Given the description of an element on the screen output the (x, y) to click on. 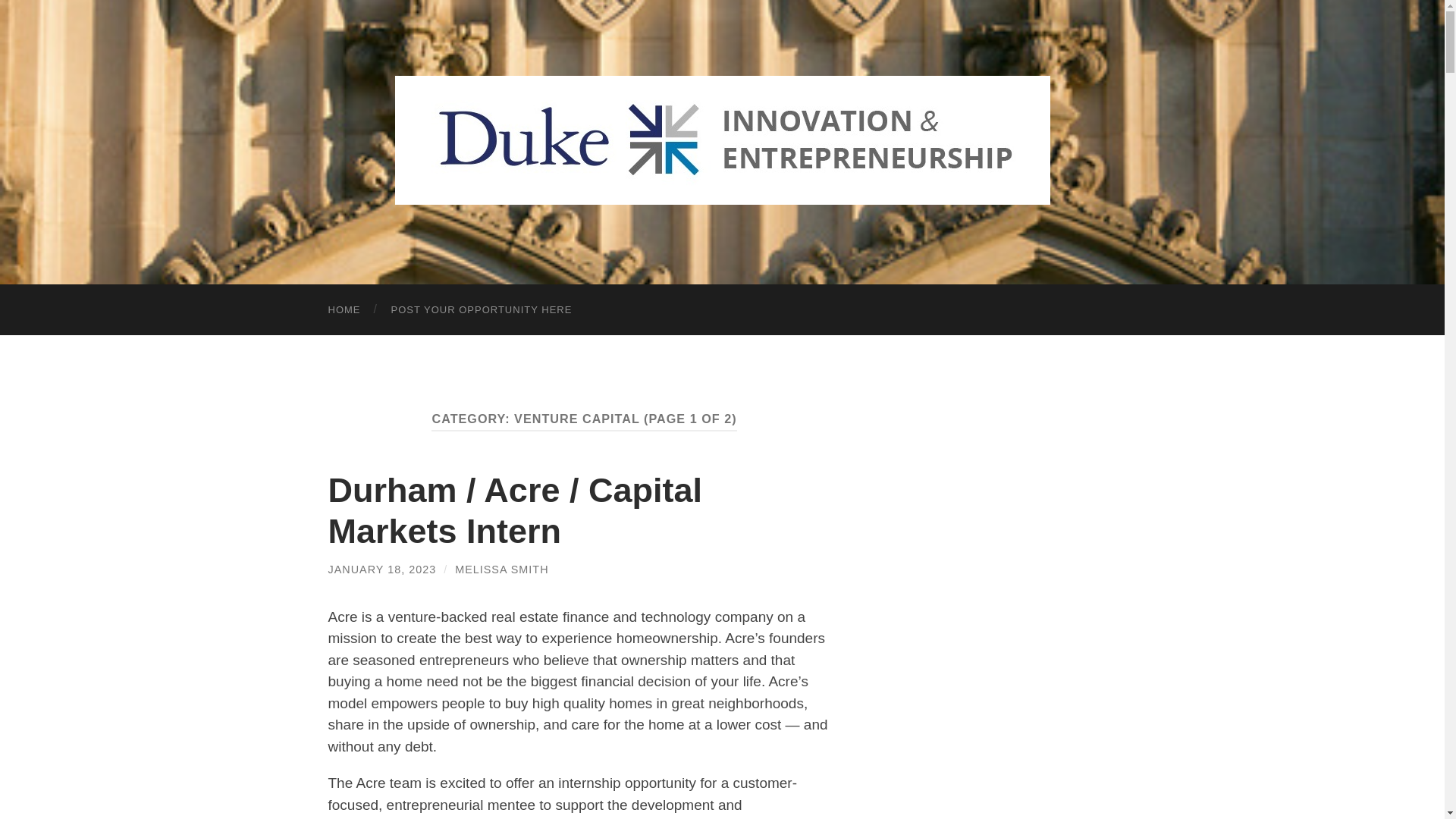
MELISSA SMITH (501, 569)
Posts by Melissa Smith (501, 569)
HOME (344, 309)
POST YOUR OPPORTUNITY HERE (481, 309)
JANUARY 18, 2023 (381, 569)
